Given the description of an element on the screen output the (x, y) to click on. 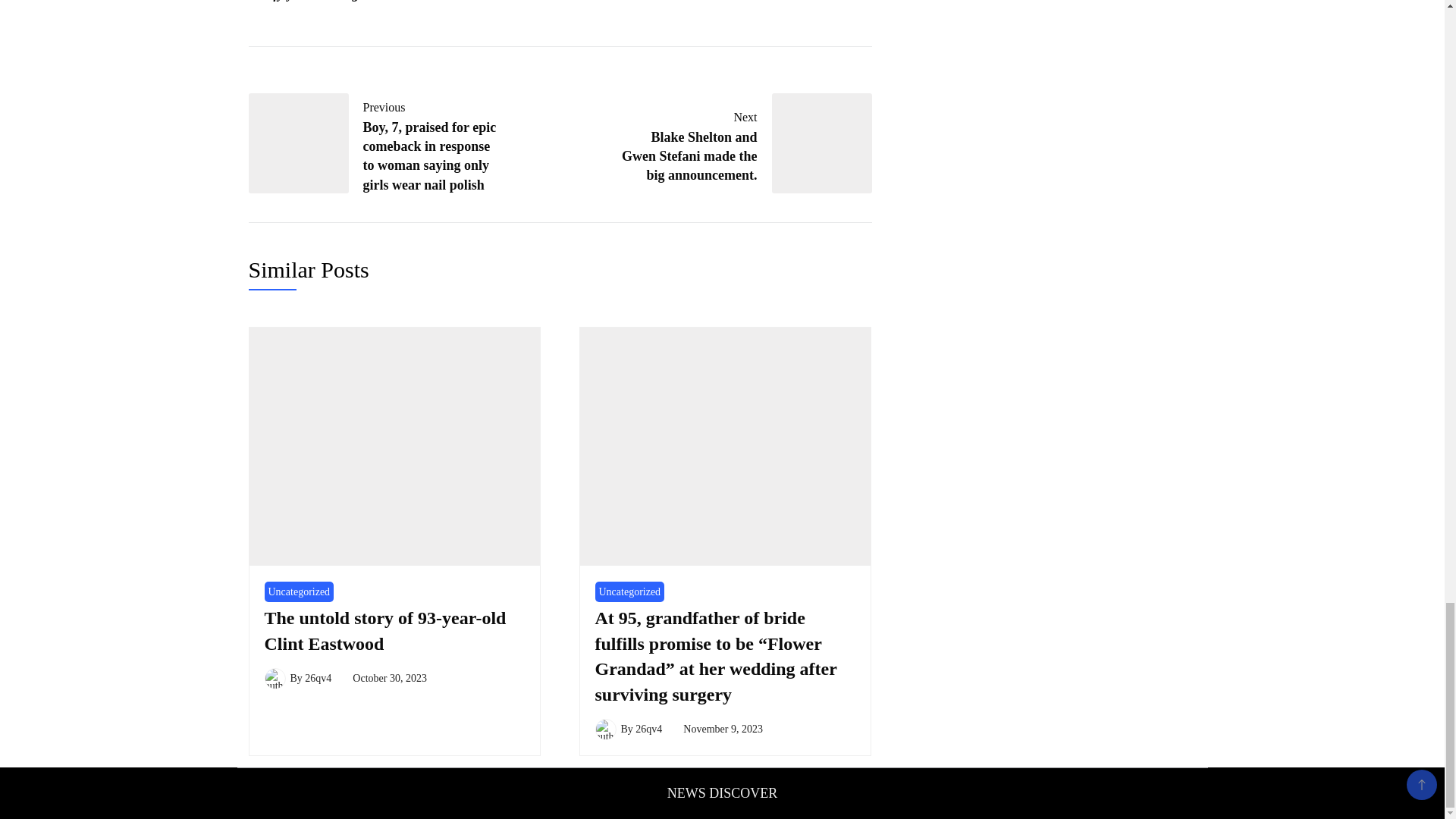
26qv4 (317, 677)
NEWS DISCOVER (721, 792)
Uncategorized (298, 591)
26qv4 (648, 728)
November 9, 2023 (722, 728)
October 30, 2023 (389, 677)
The untold story of 93-year-old Clint Eastwood (384, 630)
Uncategorized (628, 591)
